Given the description of an element on the screen output the (x, y) to click on. 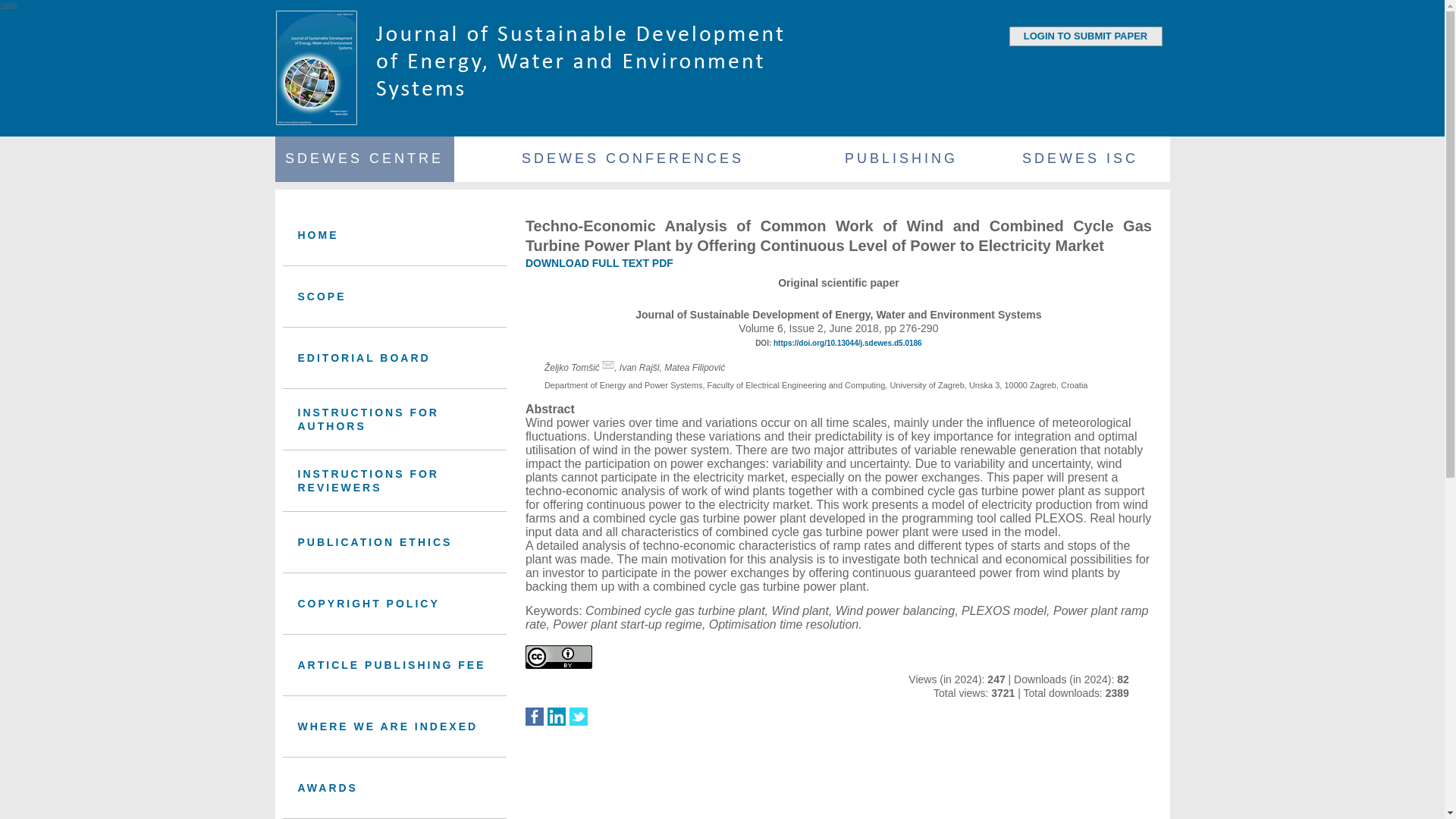
SDEWES CENTRE (363, 158)
SDEWES CONFERENCES (631, 158)
SDEWES ISC (1079, 158)
PUBLISHING (900, 158)
LOGIN TO SUBMIT PAPER (1085, 35)
